Given the description of an element on the screen output the (x, y) to click on. 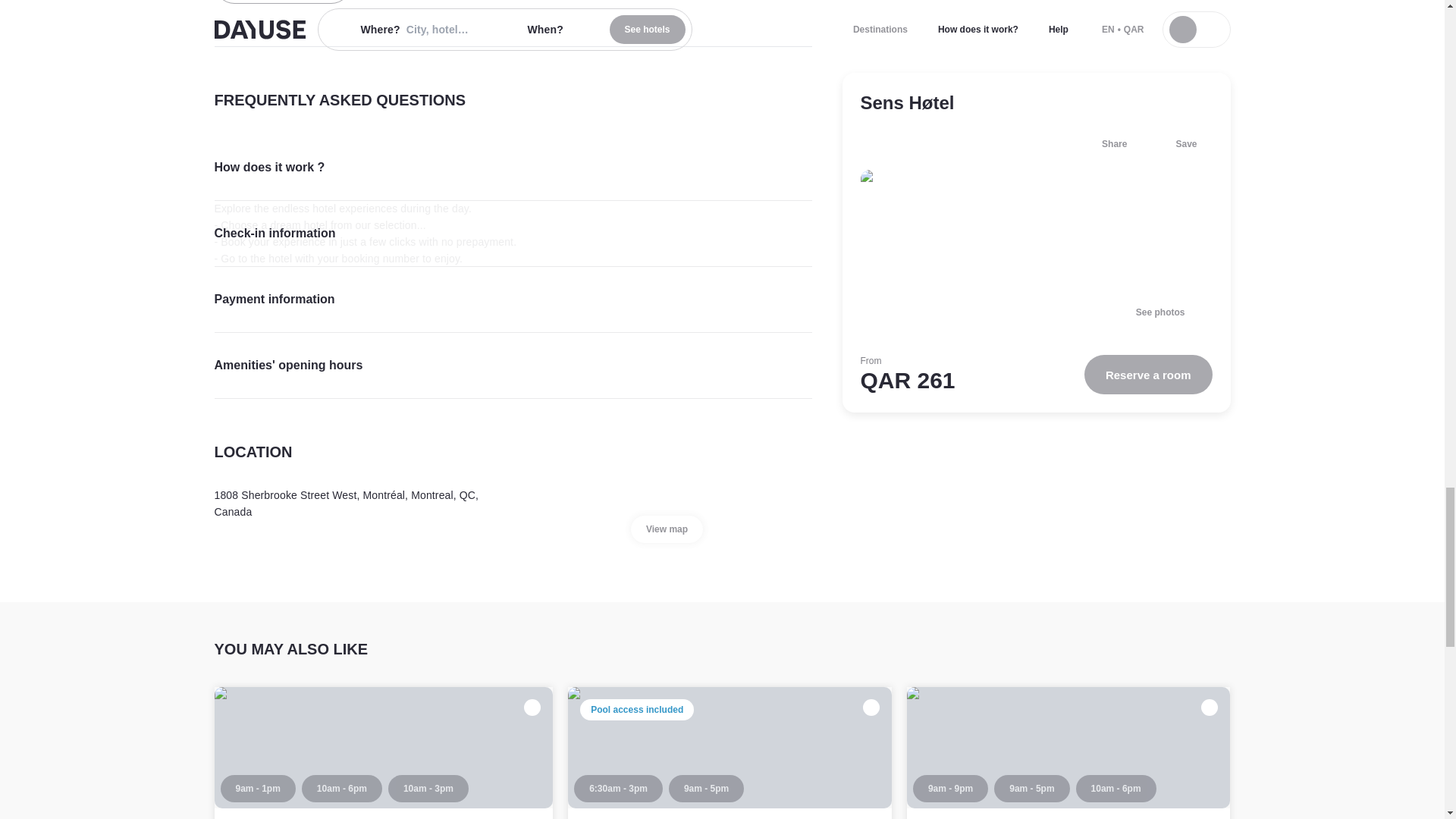
Chateau Versailles Montreal (383, 753)
Chateau Versailles Montreal (313, 817)
Le Nouvel Hotel (729, 753)
Le Nouvel Hotel (627, 817)
Hotel Le Mount Stephen (1068, 753)
Hotel Le Mount Stephen (993, 817)
